Given the description of an element on the screen output the (x, y) to click on. 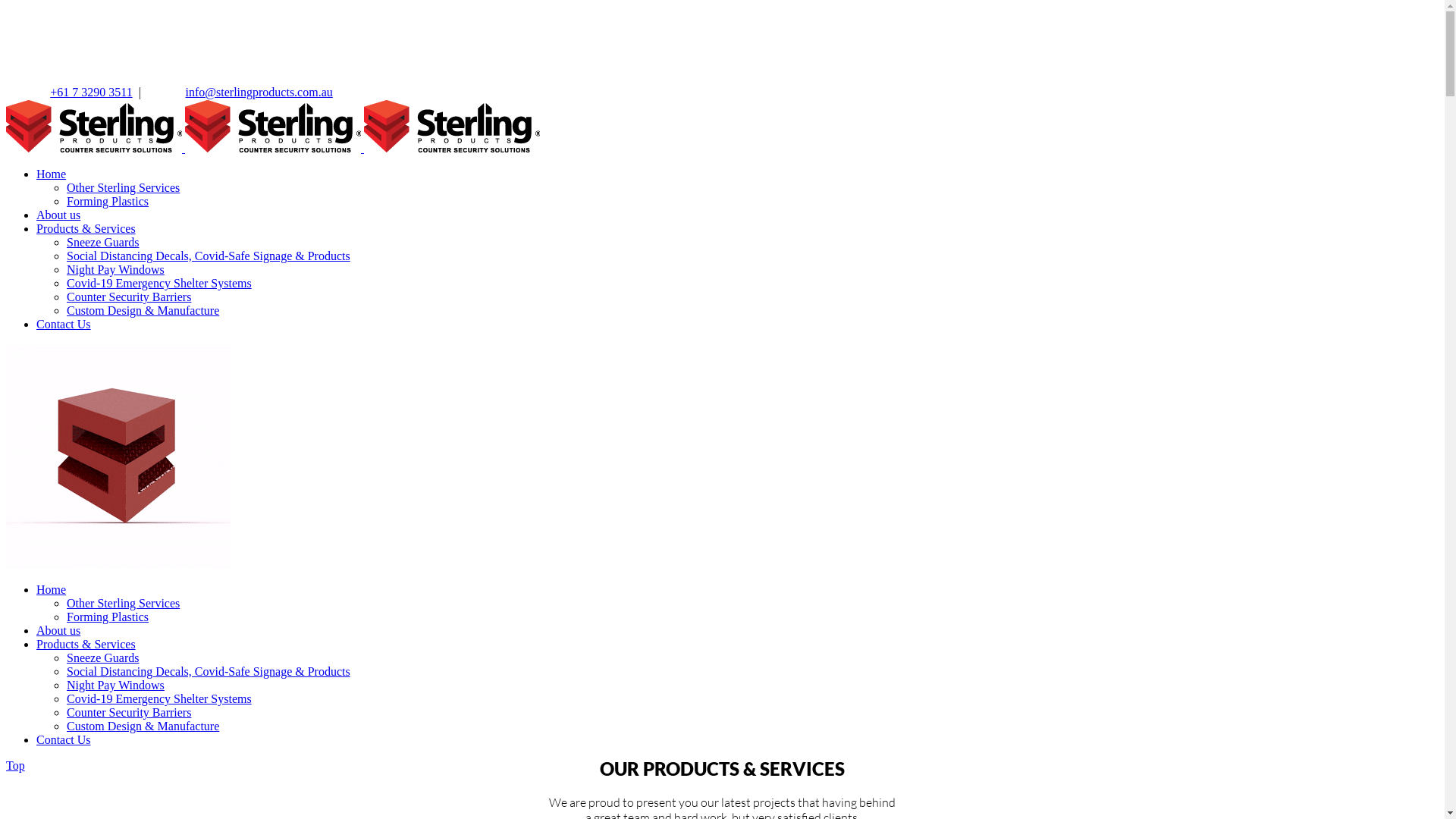
About us Element type: text (58, 214)
Covid-19 Emergency Shelter Systems Element type: text (158, 698)
Home Element type: text (50, 589)
Covid-19 Emergency Shelter Systems Element type: text (158, 282)
Other Sterling Services Element type: text (122, 602)
Home Element type: text (50, 173)
Custom Design & Manufacture Element type: text (142, 310)
Forming Plastics Element type: text (107, 616)
Night Pay Windows Element type: text (115, 684)
Custom Design & Manufacture Element type: text (142, 725)
About us Element type: text (58, 630)
Sneeze Guards Element type: text (102, 657)
+61 7 3290 3511 Element type: text (90, 91)
Counter Security Barriers Element type: text (128, 712)
Counter Security Barriers Element type: text (128, 296)
Forming Plastics Element type: text (107, 200)
Products & Services Element type: text (85, 228)
Products & Services Element type: text (85, 643)
Social Distancing Decals, Covid-Safe Signage & Products Element type: text (208, 671)
Contact Us Element type: text (63, 323)
info@sterlingproducts.com.au Element type: text (258, 91)
Contact Us Element type: text (63, 739)
Night Pay Windows Element type: text (115, 269)
Social Distancing Decals, Covid-Safe Signage & Products Element type: text (208, 255)
Other Sterling Services Element type: text (122, 187)
Sneeze Guards Element type: text (102, 241)
Top Element type: text (15, 765)
